Given the description of an element on the screen output the (x, y) to click on. 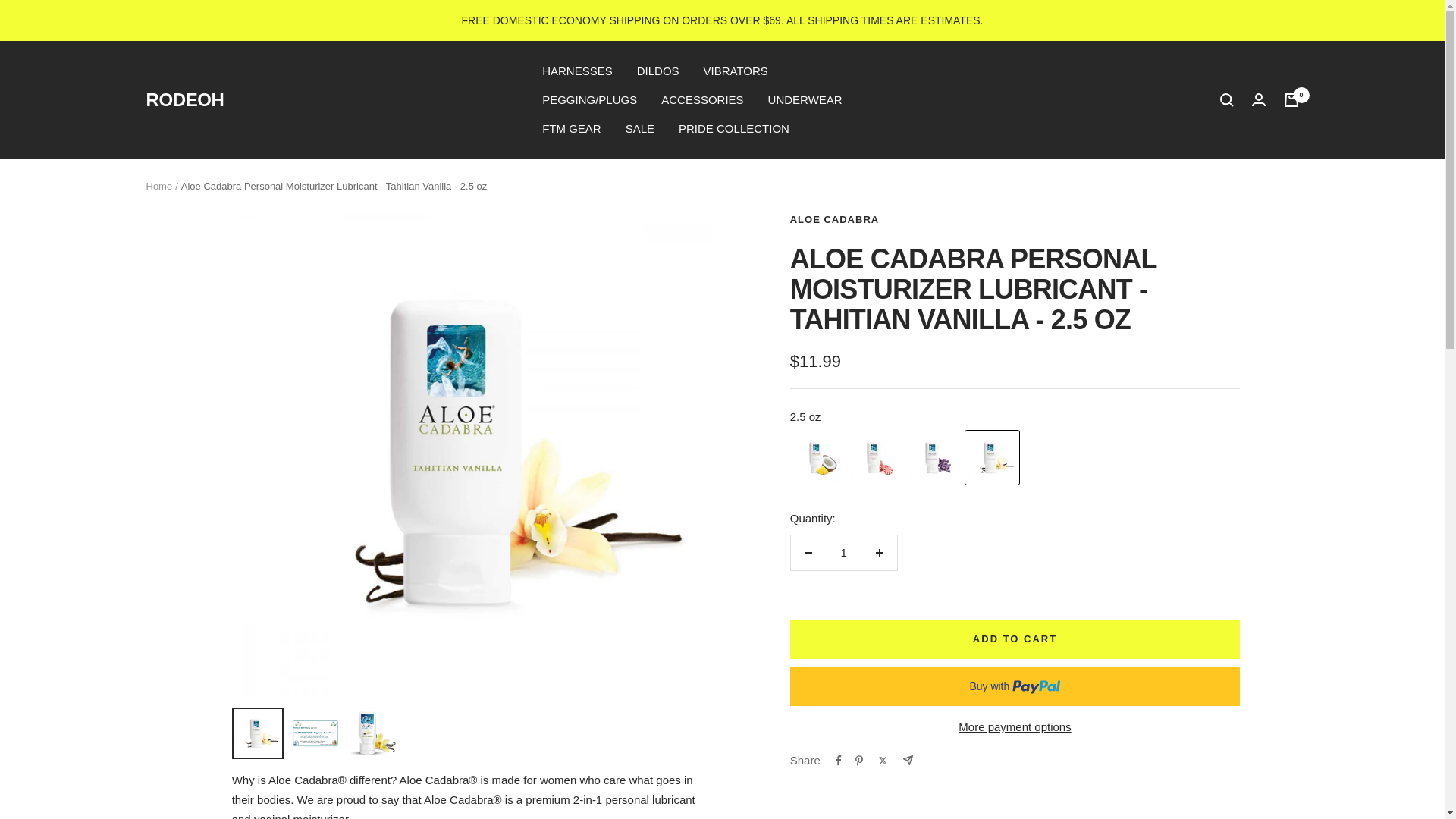
ACCESSORIES (701, 99)
HARNESSES (576, 71)
UNDERWEAR (805, 99)
PRIDE COLLECTION (733, 128)
1 (843, 552)
RODEOH (184, 99)
Increase quantity (878, 552)
ADD TO CART (1015, 639)
ALOE CADABRA (834, 219)
FTM GEAR (571, 128)
